Given the description of an element on the screen output the (x, y) to click on. 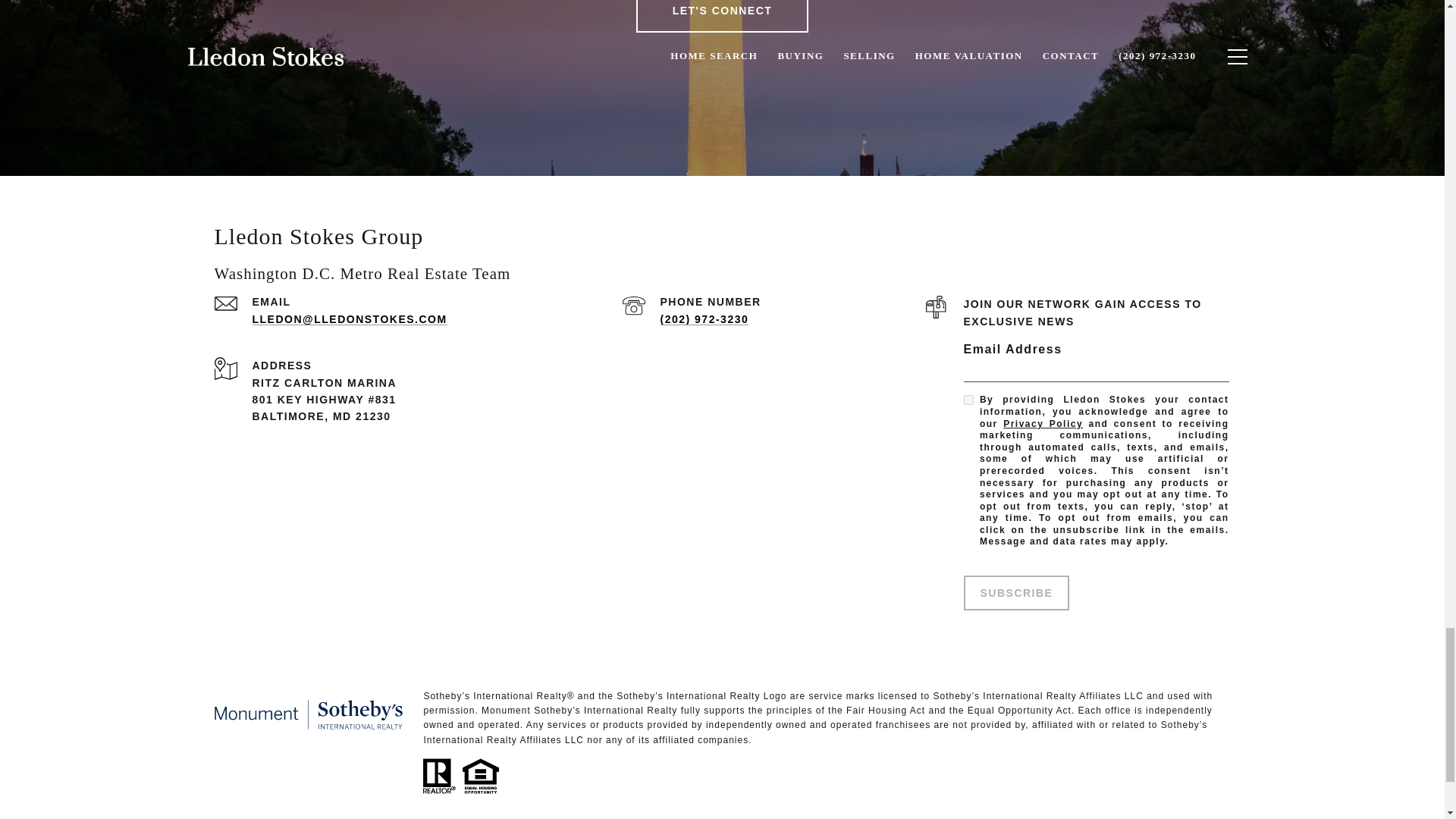
on (967, 399)
